Given the description of an element on the screen output the (x, y) to click on. 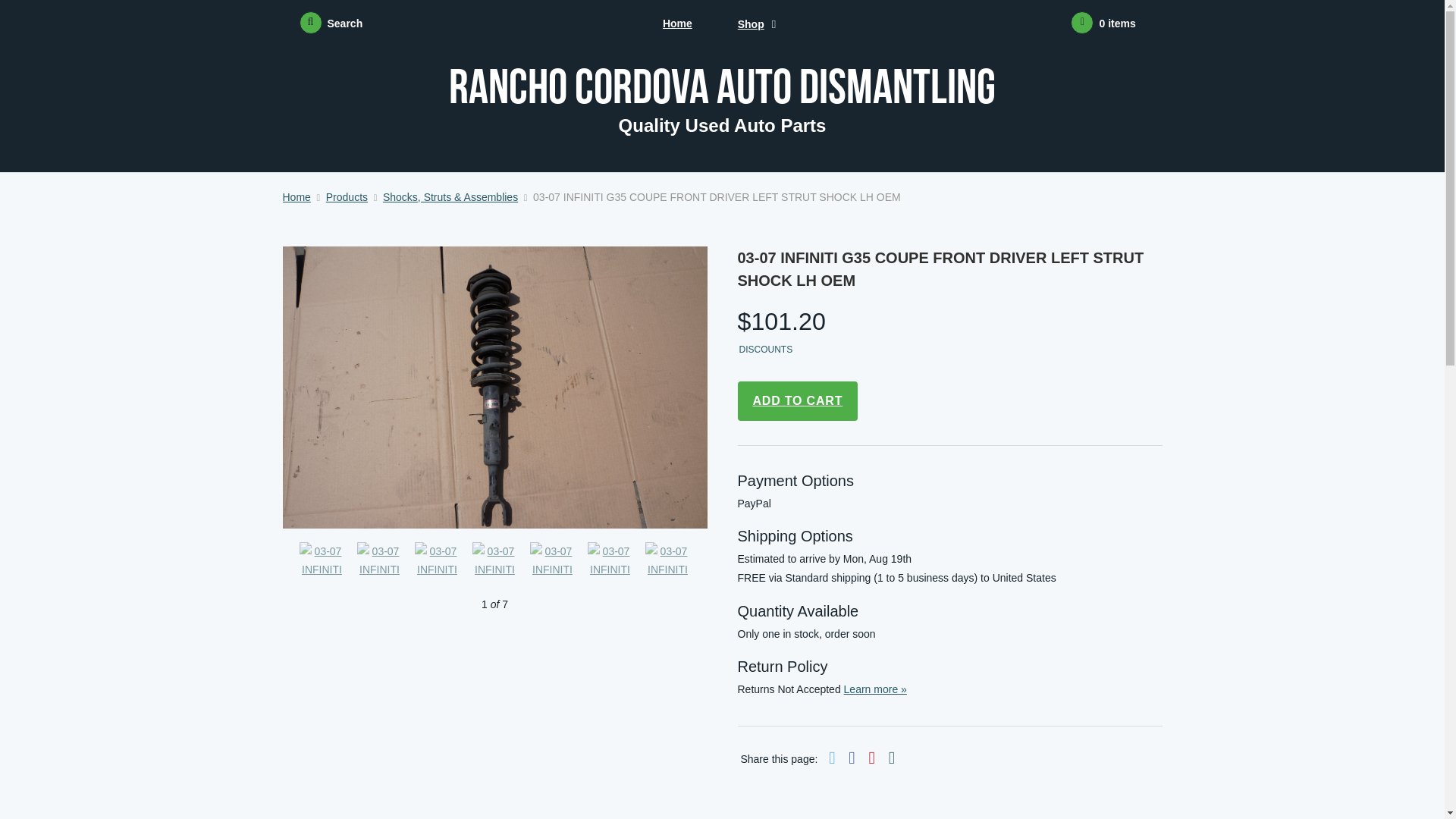
DISCOUNTS (765, 349)
Shop (751, 24)
Home (296, 196)
ADD TO CART (796, 400)
Search (330, 23)
Products (347, 196)
Discounts (765, 349)
Home (677, 23)
